Given the description of an element on the screen output the (x, y) to click on. 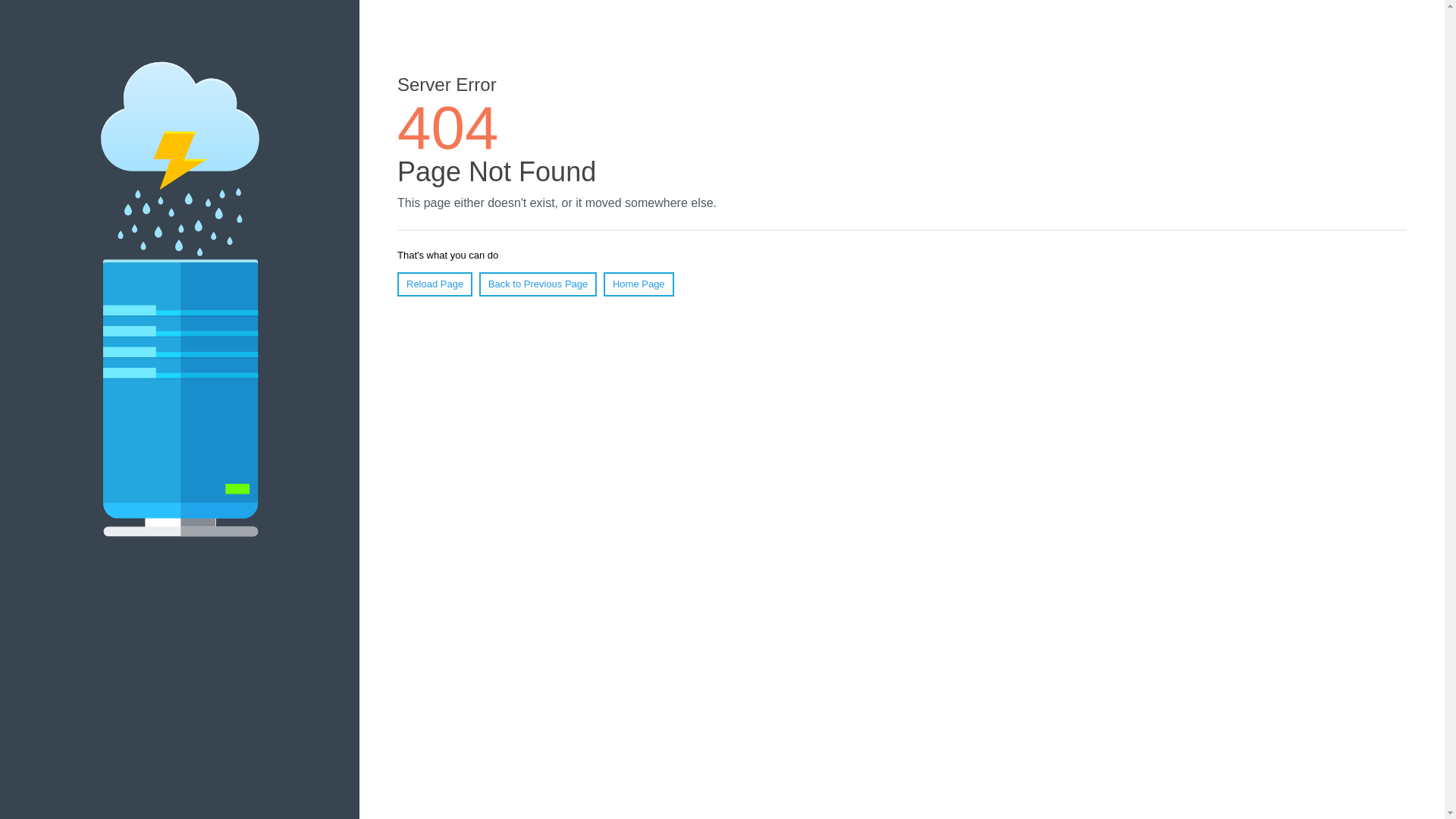
Home Page (639, 283)
Back to Previous Page (537, 283)
Reload Page (434, 283)
